Given the description of an element on the screen output the (x, y) to click on. 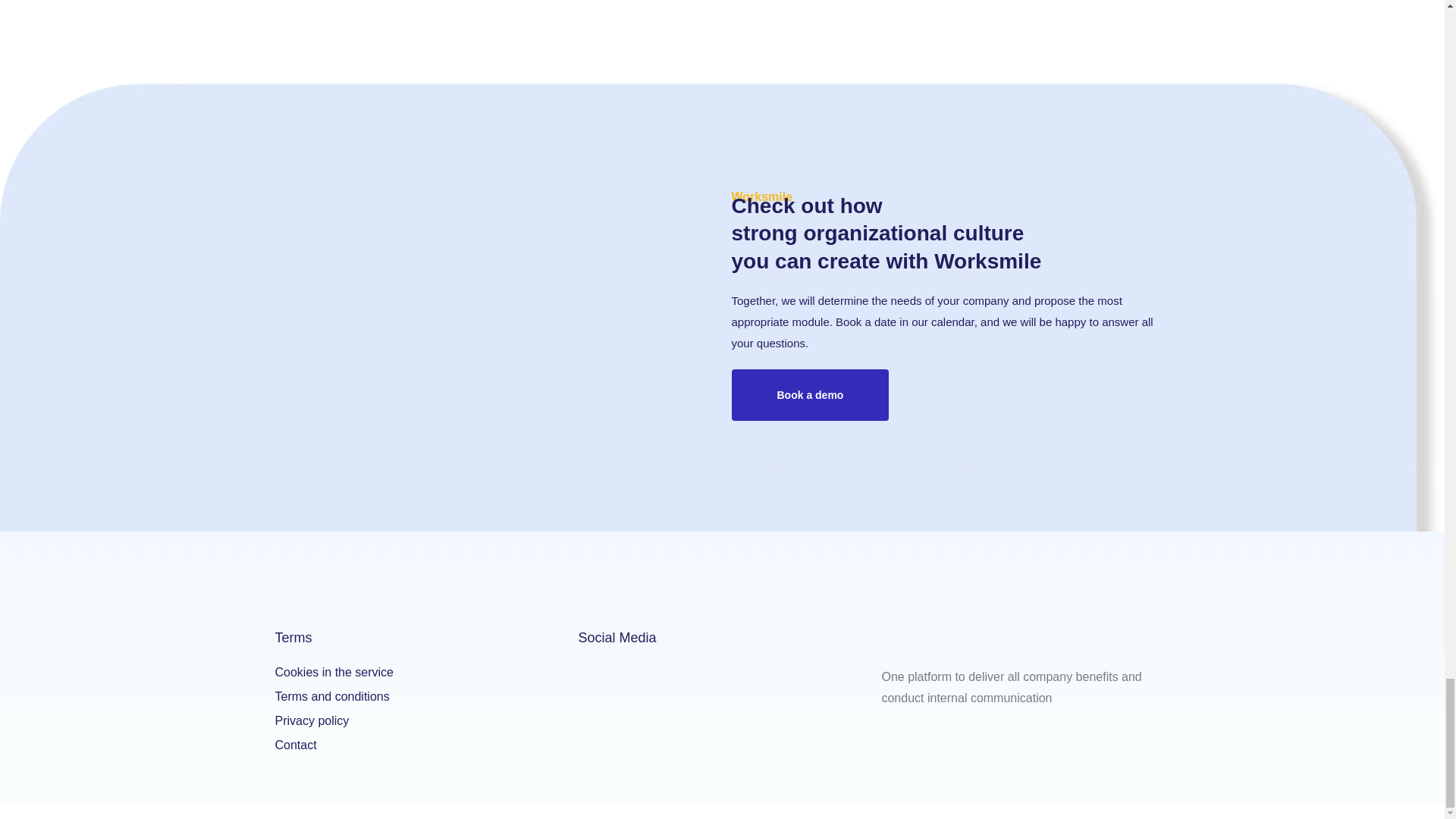
Cookies in the service (418, 672)
Contact (418, 745)
Book a demo (809, 394)
Privacy policy (418, 721)
Terms and conditions (418, 697)
